Given the description of an element on the screen output the (x, y) to click on. 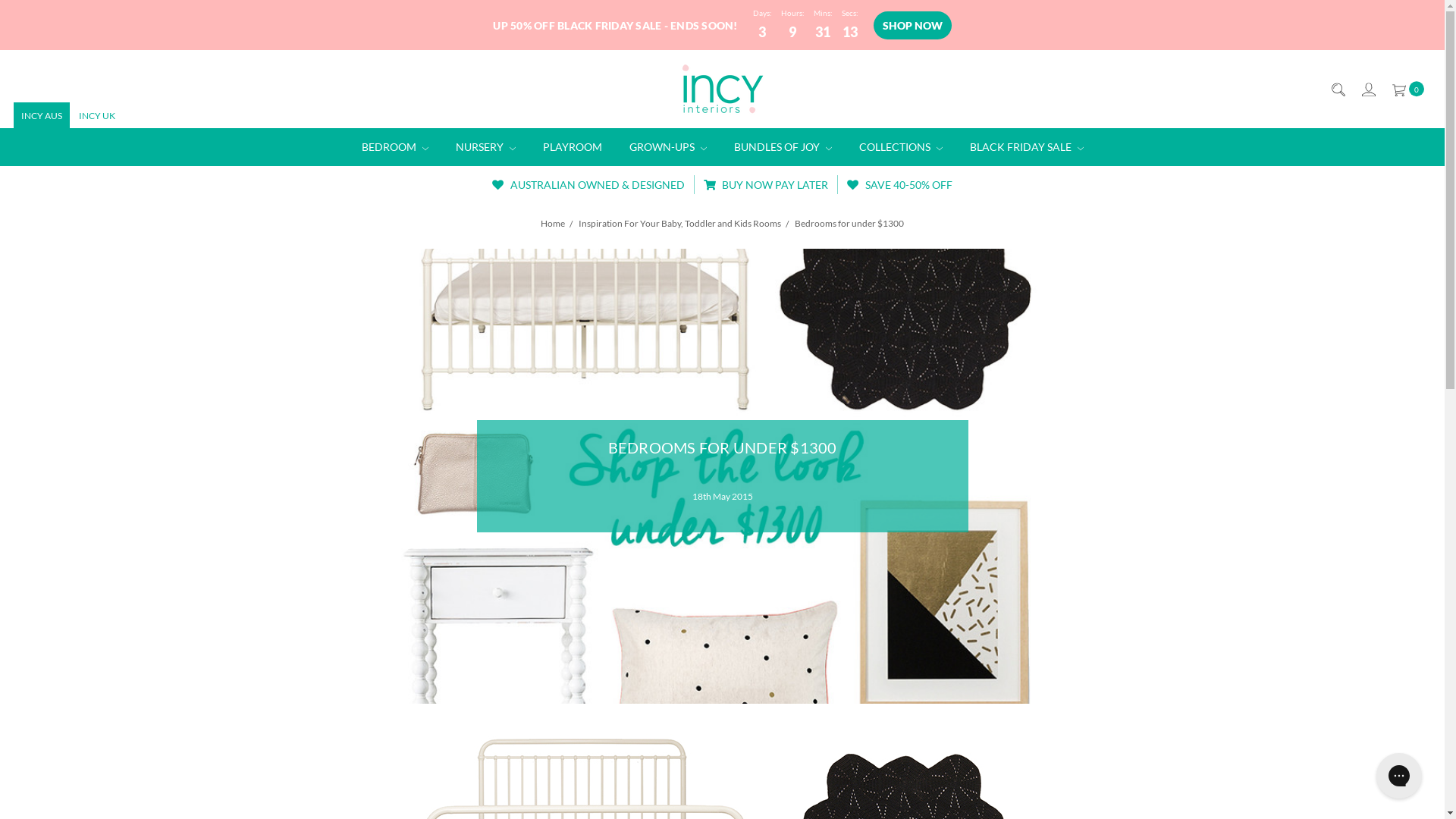
Bedrooms for under $1300 Element type: text (848, 223)
SHOP NOW Element type: text (912, 25)
Home Element type: text (552, 223)
BLACK FRIDAY SALE Element type: text (1025, 146)
GROWN-UPS Element type: text (667, 146)
PLAYROOM Element type: text (572, 146)
0 Element type: text (1406, 89)
INCY AUS Element type: text (41, 115)
BEDROOM Element type: text (394, 146)
Bedrooms for under $1300 Element type: hover (721, 475)
NURSERY Element type: text (484, 146)
Gorgias live chat messenger Element type: hover (1398, 775)
COLLECTIONS Element type: text (899, 146)
Inspiration For Your Baby, Toddler and Kids Rooms Element type: text (679, 223)
INCY UK Element type: text (96, 115)
Incy Interiors Element type: hover (722, 88)
BUNDLES OF JOY Element type: text (782, 146)
